Given the description of an element on the screen output the (x, y) to click on. 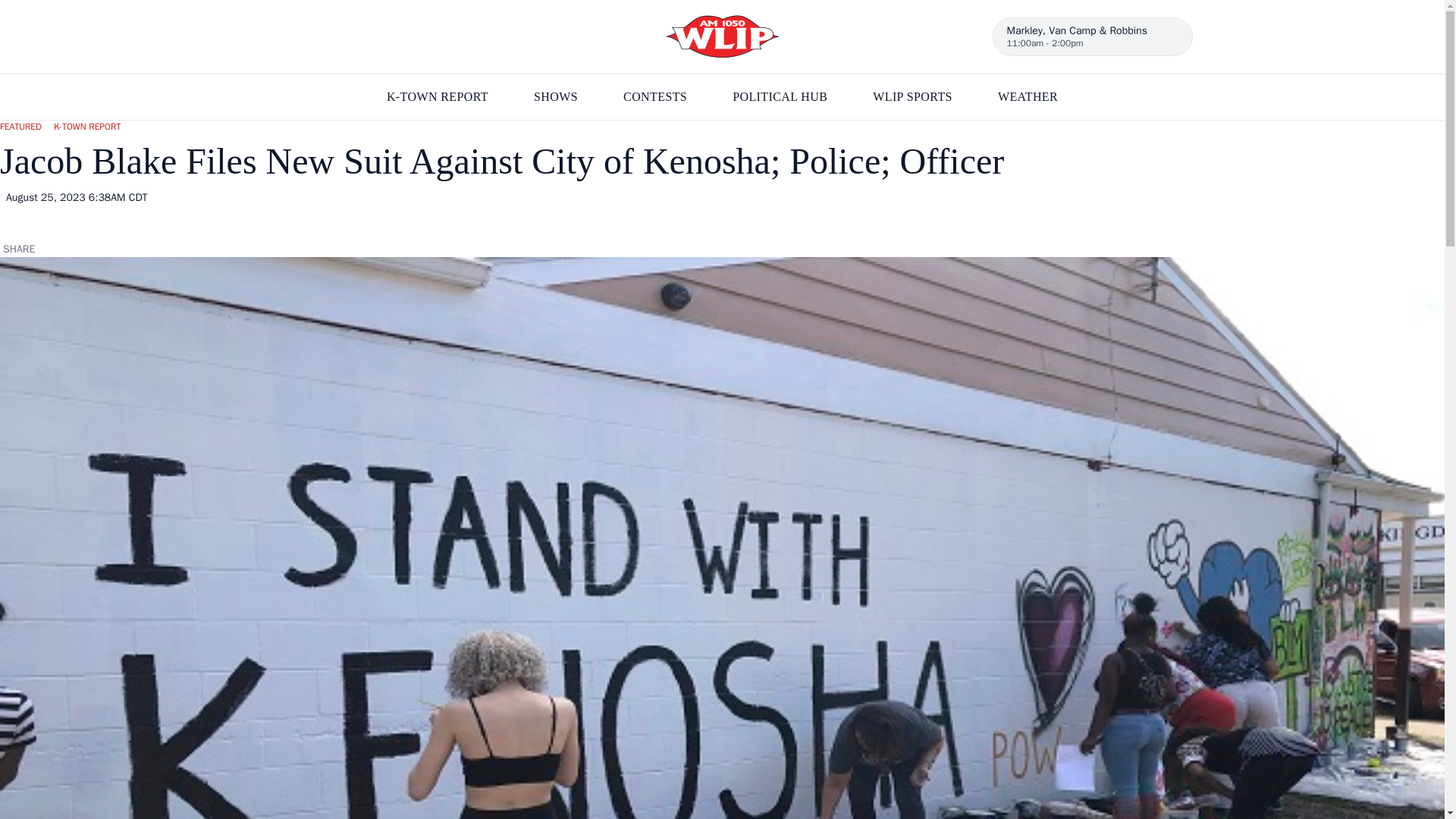
WEATHER (1027, 96)
AM 1050 WLIP (721, 36)
POLITICAL HUB (779, 96)
K-TOWN REPORT (437, 96)
SHOWS (556, 96)
CONTESTS (655, 96)
WLIP SPORTS (912, 96)
